Given the description of an element on the screen output the (x, y) to click on. 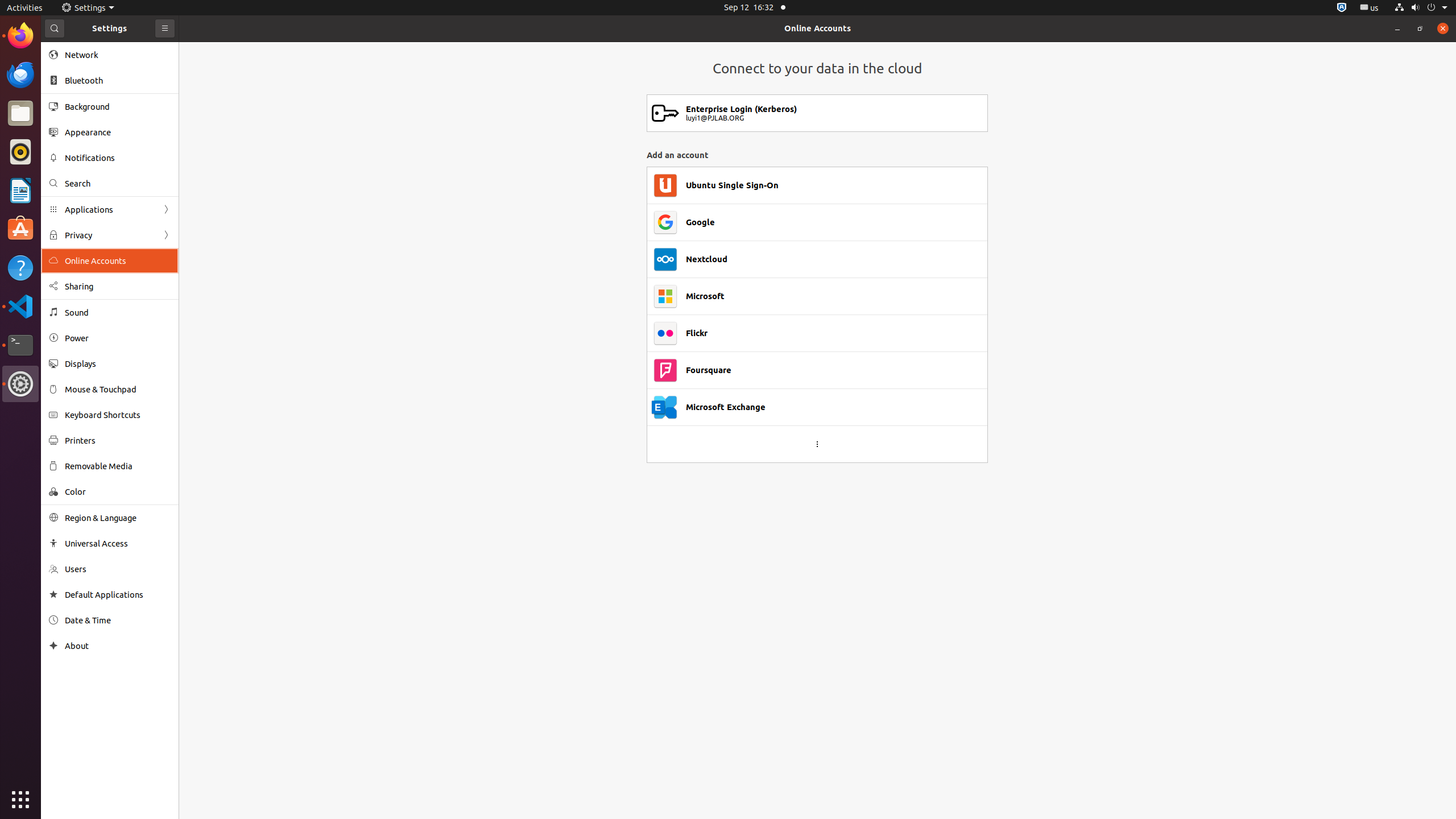
Universal Access Element type: label (117, 543)
Activities Element type: label (24, 7)
Displays Element type: label (117, 363)
Removable Media Element type: label (117, 465)
